Given the description of an element on the screen output the (x, y) to click on. 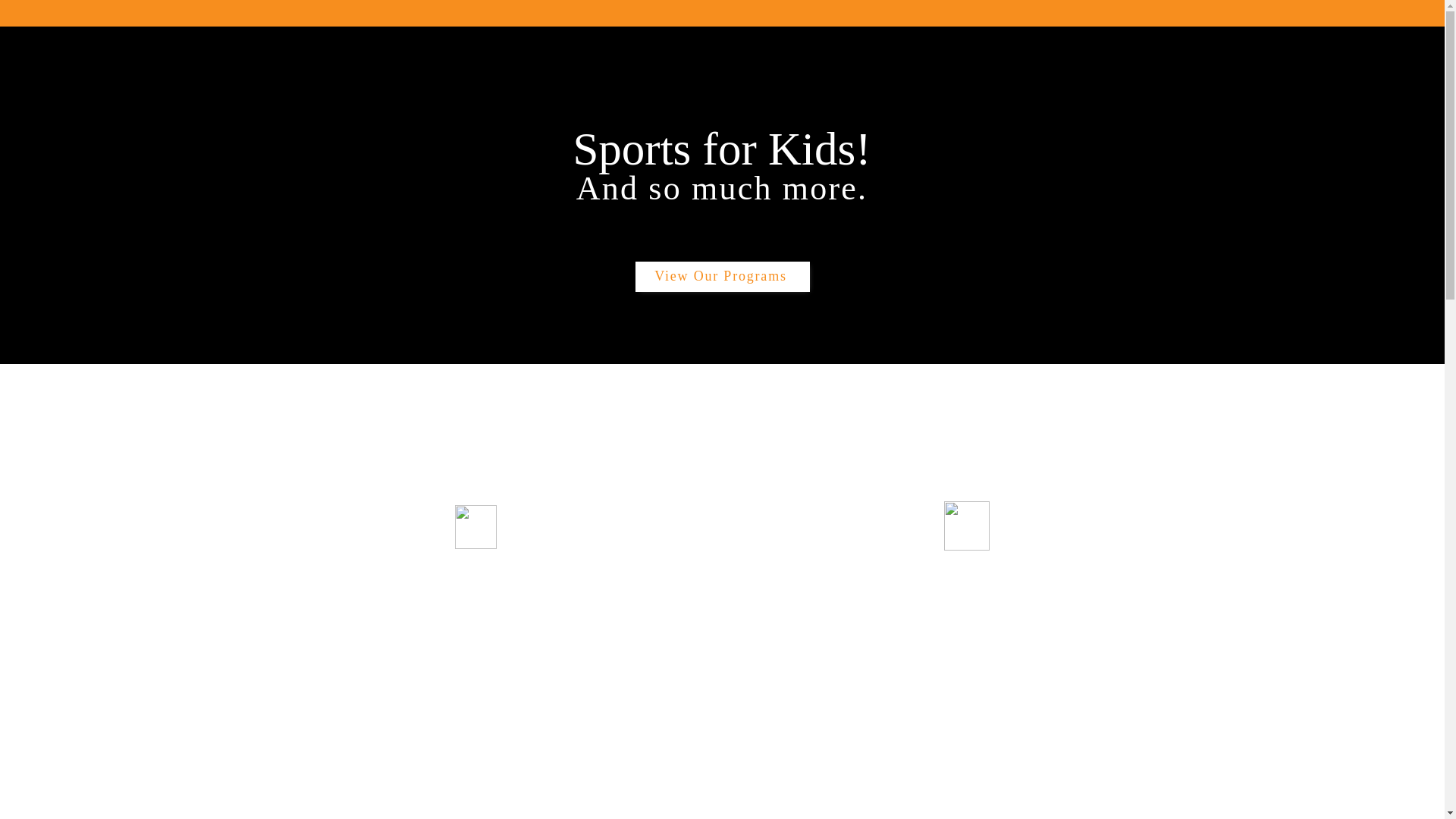
Multisport Program Element type: text (548, 87)
View Our Programs Element type: text (722, 276)
School Break Camps Element type: text (665, 87)
Enrichment Programs Element type: text (875, 87)
Registration Element type: text (453, 87)
Special Events Element type: text (769, 87)
About Us Element type: text (970, 87)
Home Element type: text (390, 87)
Contact Us Element type: text (1041, 87)
